Given the description of an element on the screen output the (x, y) to click on. 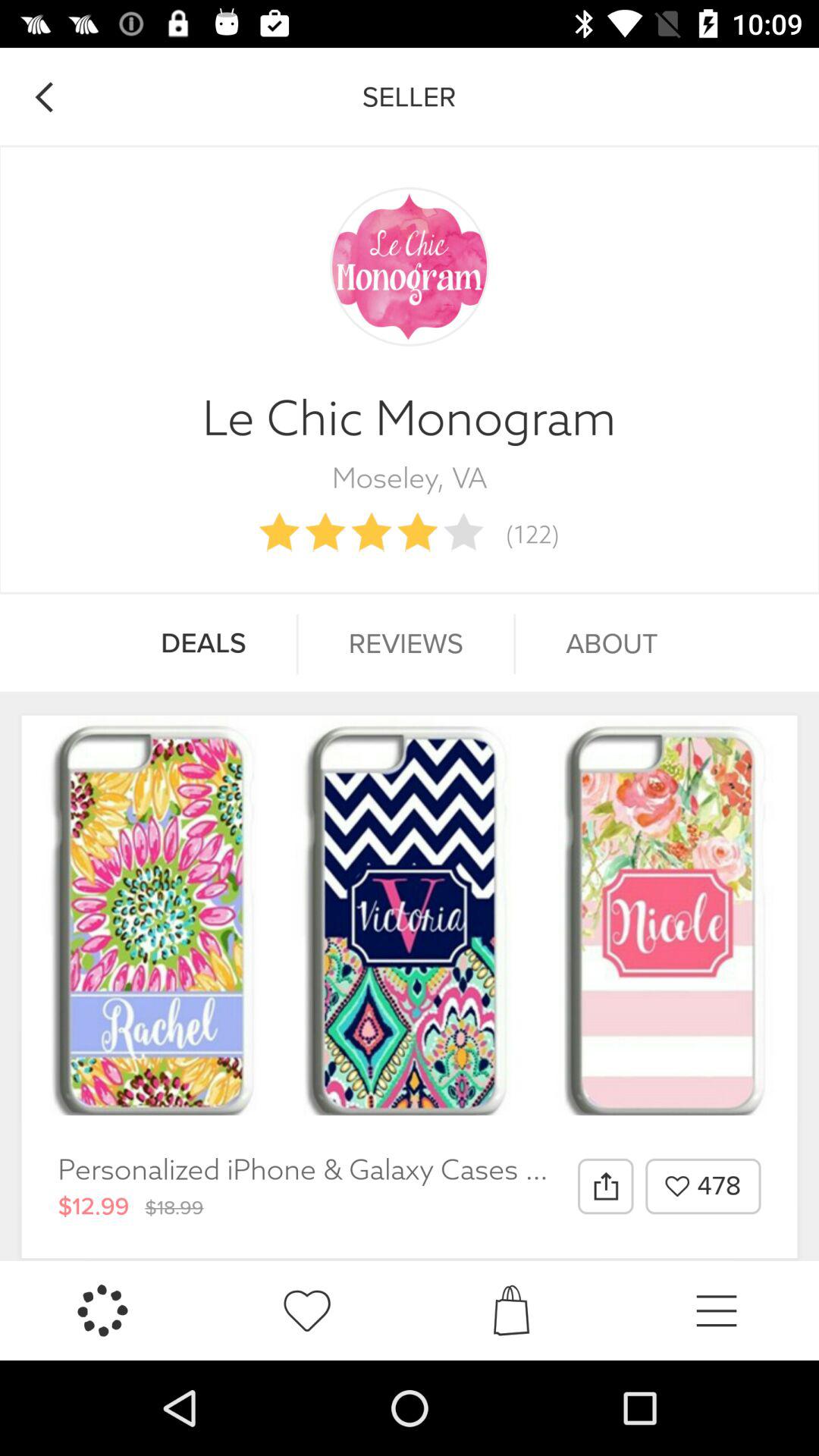
press icon next to the 478 item (605, 1186)
